Given the description of an element on the screen output the (x, y) to click on. 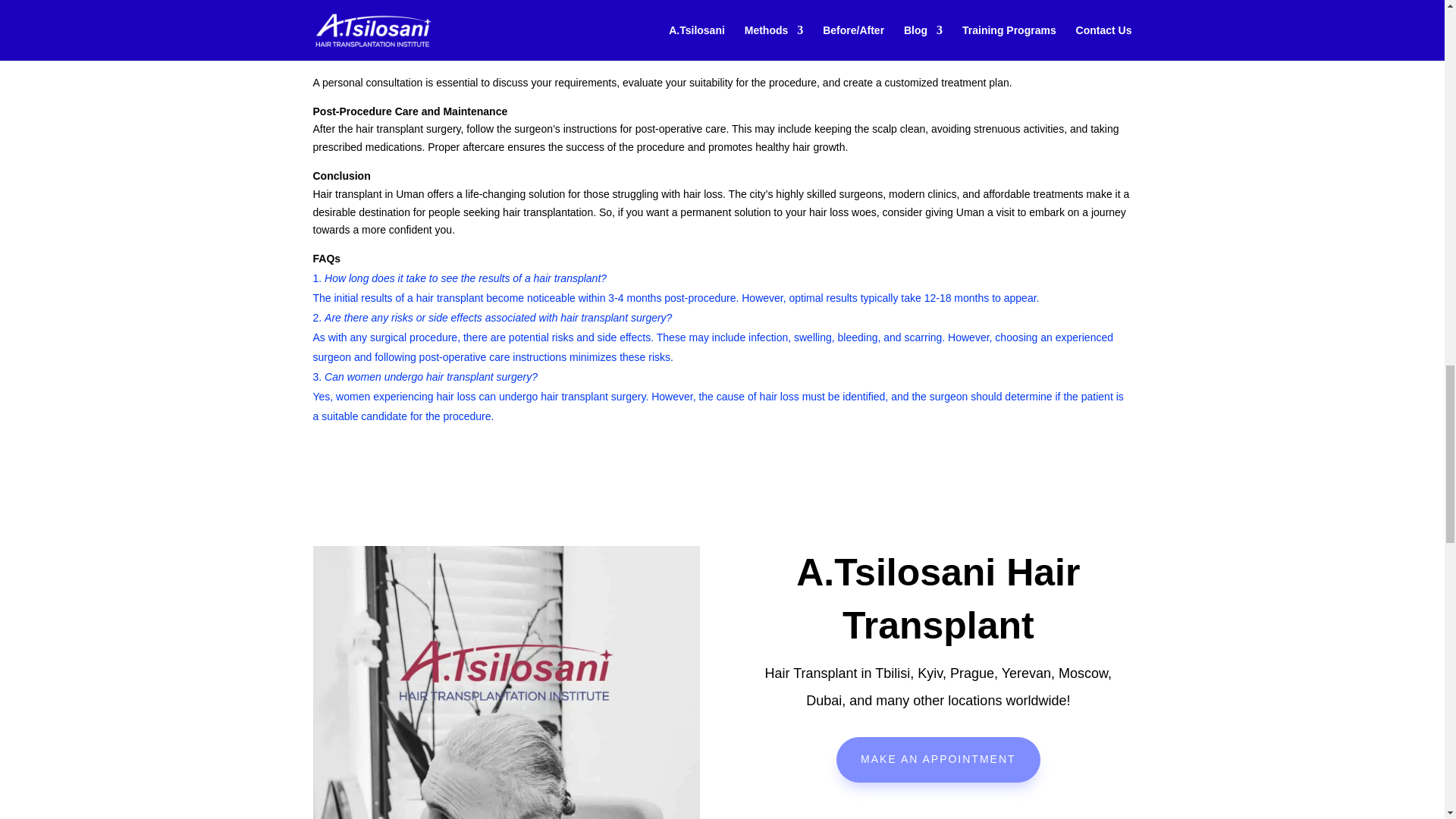
MAKE AN APPOINTMENT (937, 759)
w (937, 811)
